Given the description of an element on the screen output the (x, y) to click on. 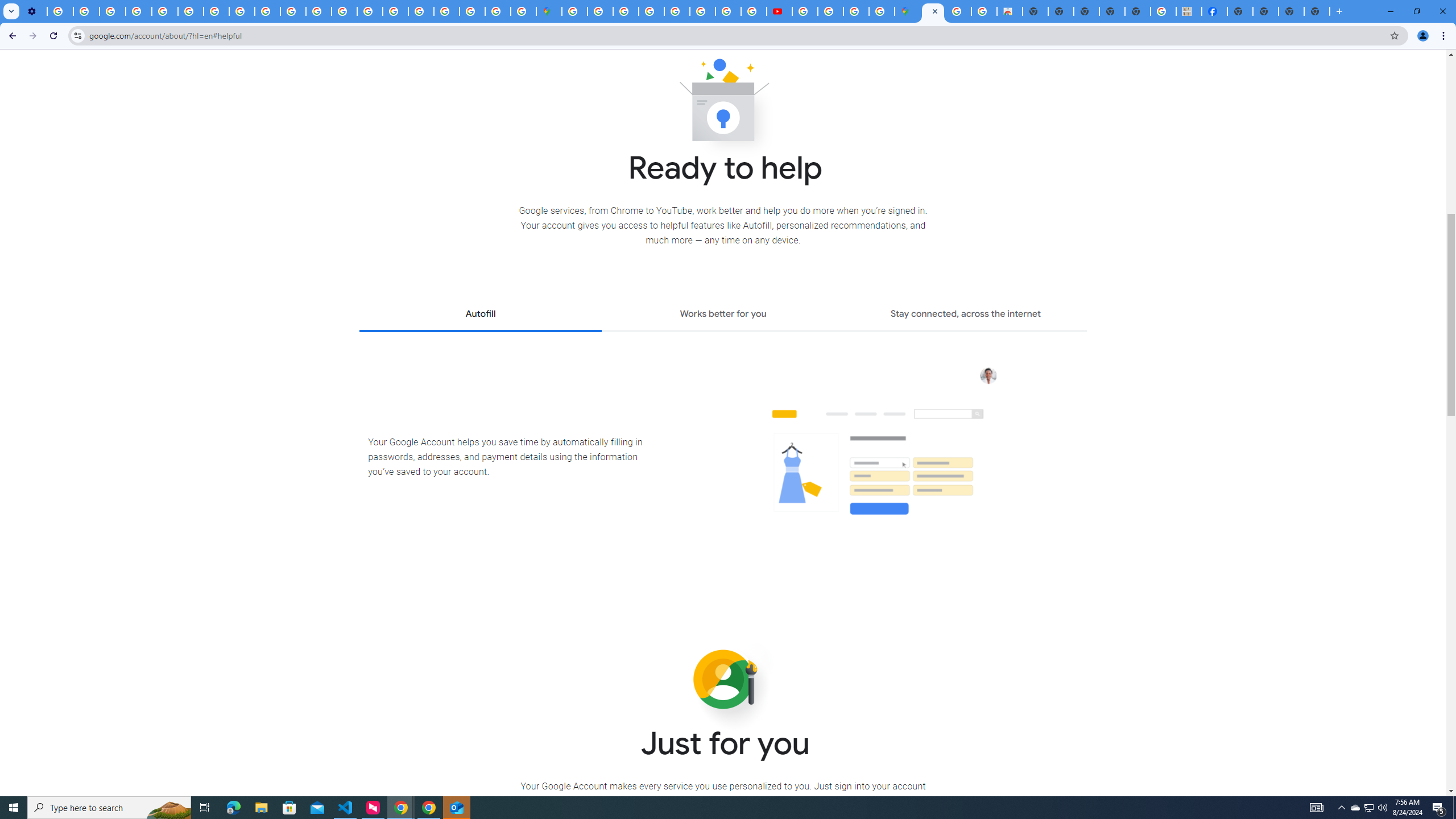
Sign in - Google Accounts (574, 11)
Miley Cyrus | Facebook (1213, 11)
Privacy Help Center - Policies Help (702, 11)
Ready to help (722, 103)
